Given the description of an element on the screen output the (x, y) to click on. 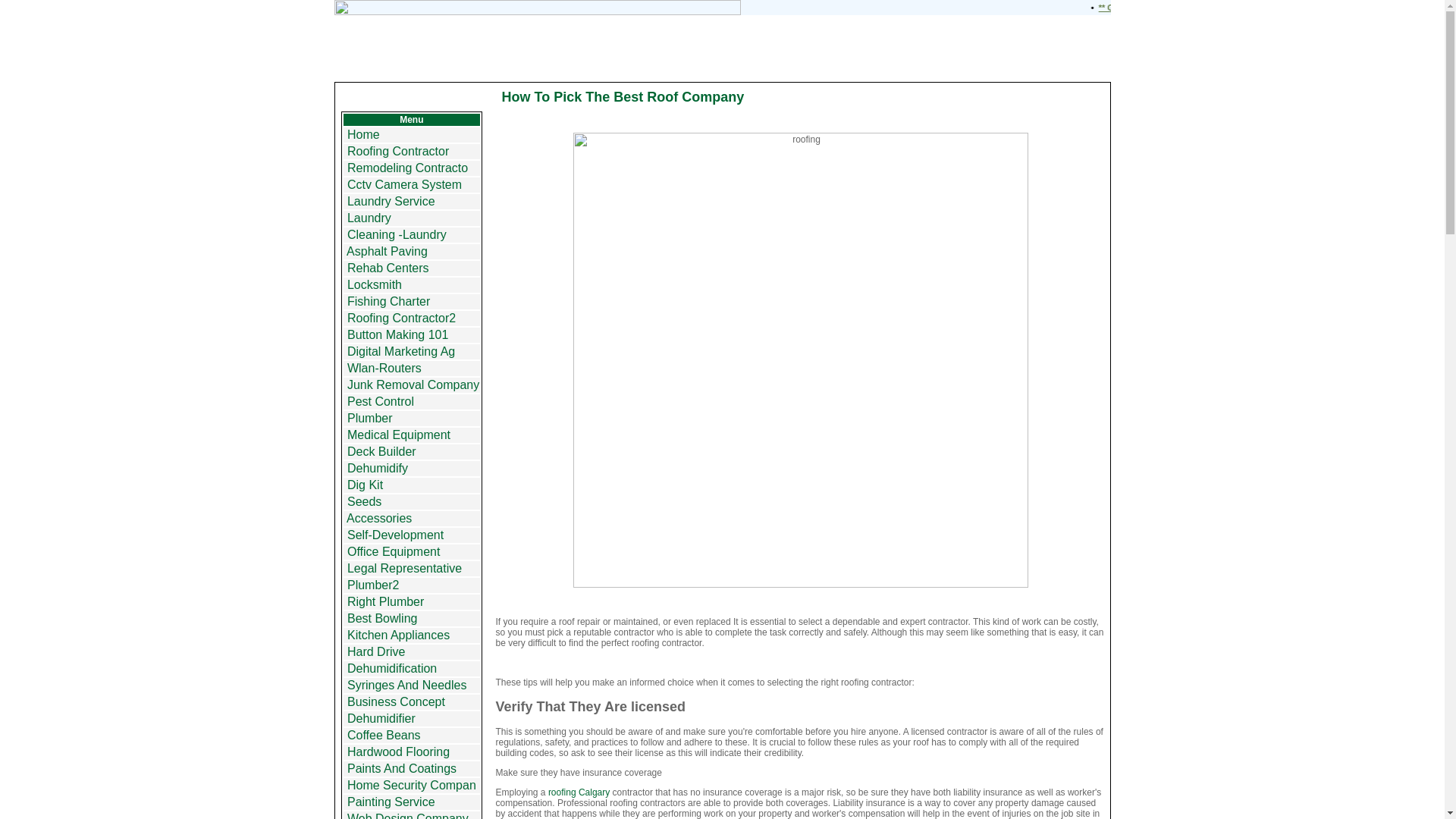
Digital Marketing Ag (400, 350)
Seeds (364, 501)
Rehab Centers (388, 267)
Medical Equipment (398, 434)
Dehumidifier (380, 717)
Coffee Beans (383, 735)
Laundry (369, 217)
Asphalt Paving (387, 250)
Button Making 101 (397, 334)
Dehumidify (377, 468)
Plumber (370, 418)
Business Concept (396, 701)
Best Bowling (382, 617)
Plumber2 (372, 584)
Cctv Camera System (404, 184)
